Given the description of an element on the screen output the (x, y) to click on. 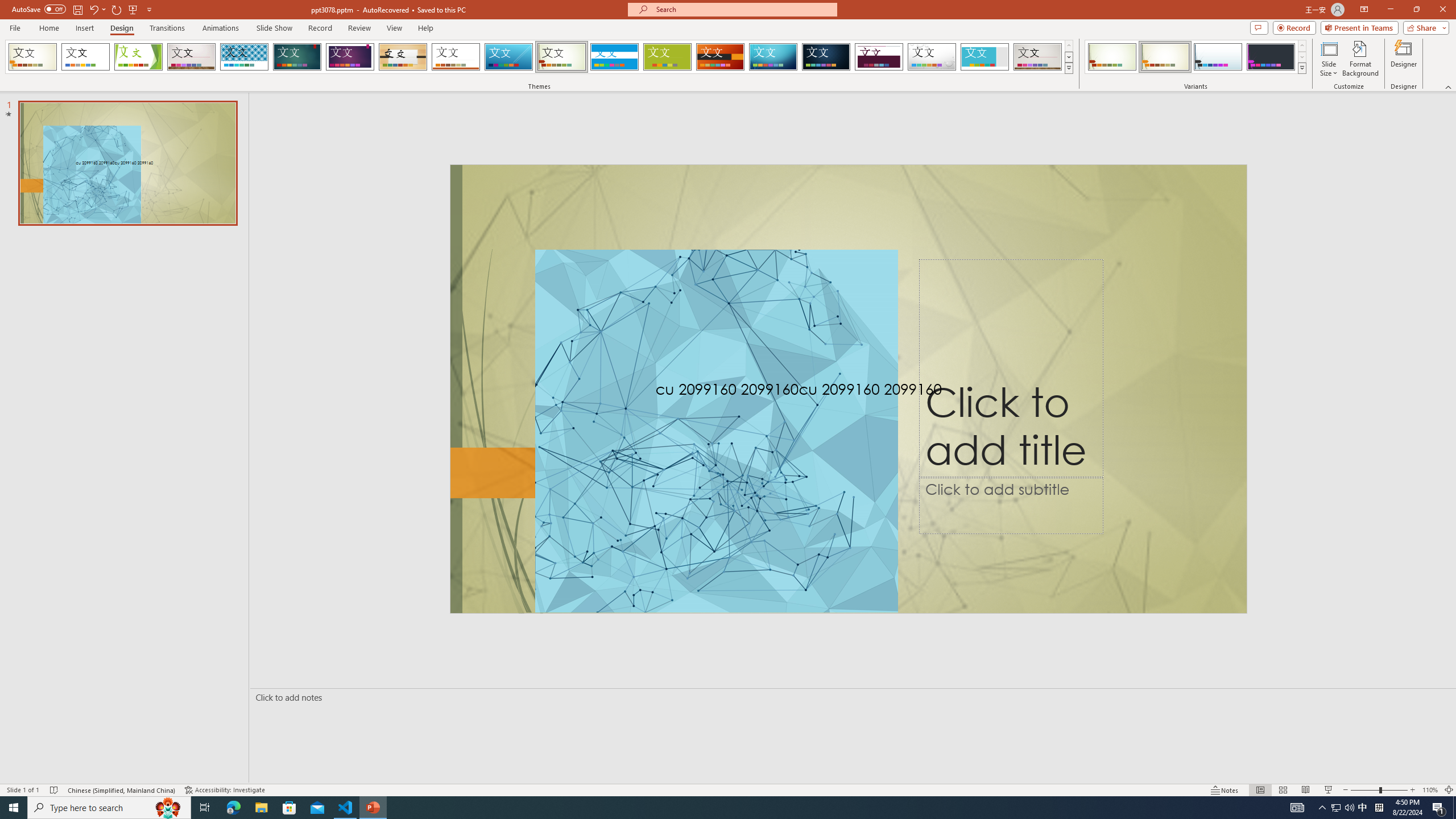
AutomationID: SlideThemesGallery (539, 56)
Damask Loading Preview... (826, 56)
Organic Loading Preview... (403, 56)
Berlin Loading Preview... (720, 56)
